Given the description of an element on the screen output the (x, y) to click on. 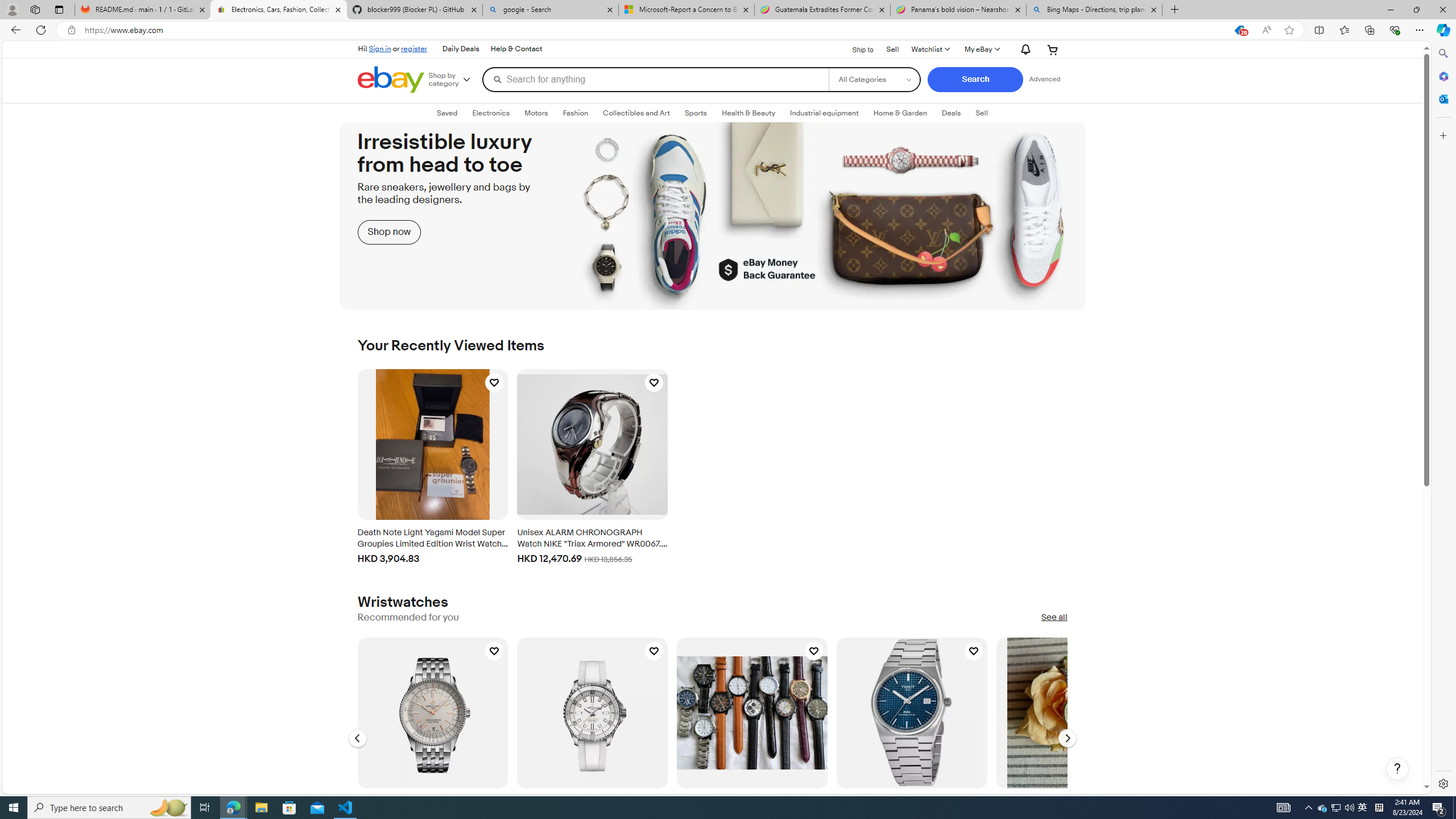
Collectibles and ArtExpand: Collectibles and Art (636, 112)
Watchlist (929, 49)
